Given the description of an element on the screen output the (x, y) to click on. 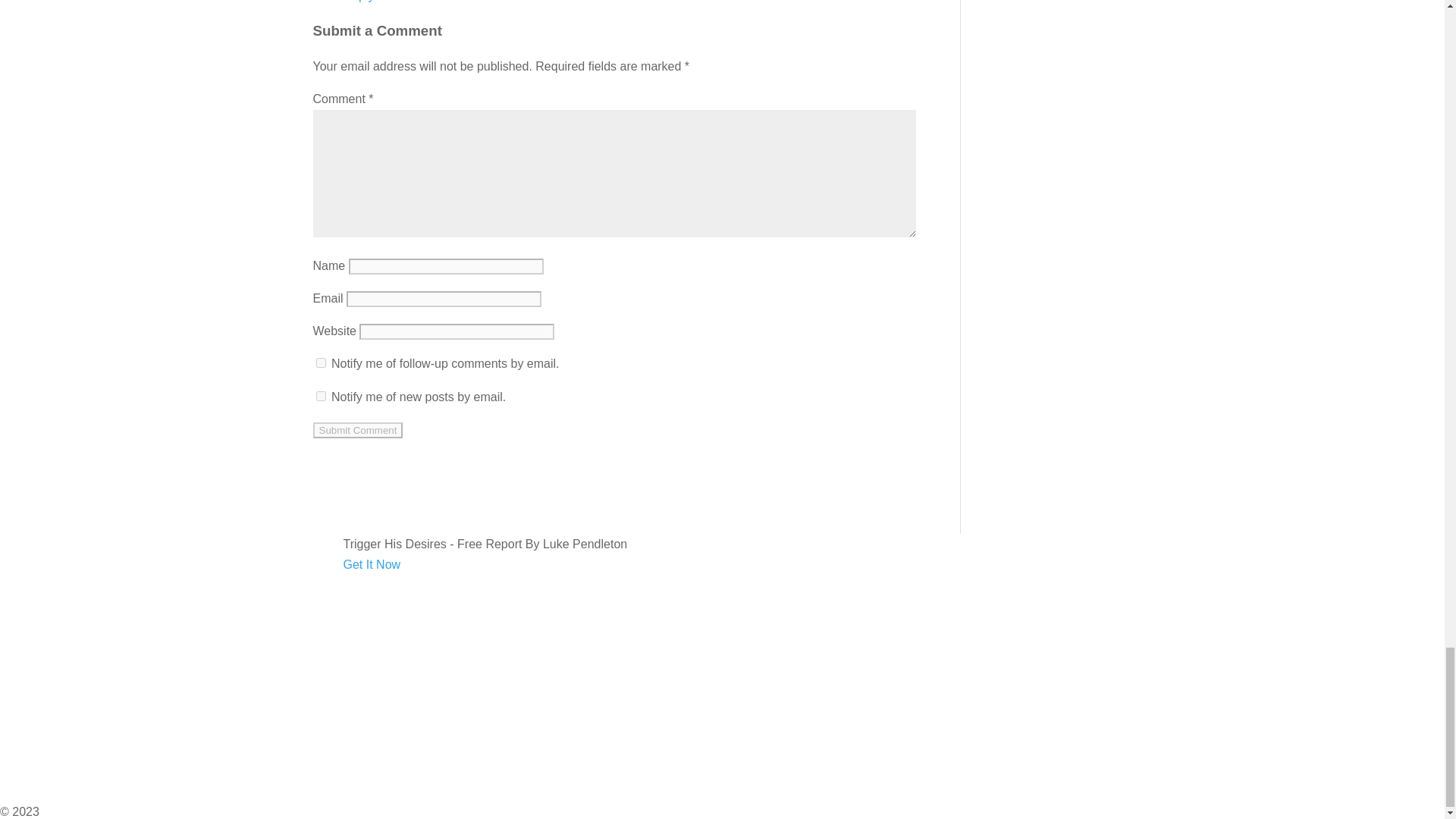
subscribe (319, 396)
Dating (17, 604)
Submit Comment (358, 430)
Commitment (34, 626)
subscribe (319, 362)
Submit Comment (358, 430)
Reply (358, 1)
